Given the description of an element on the screen output the (x, y) to click on. 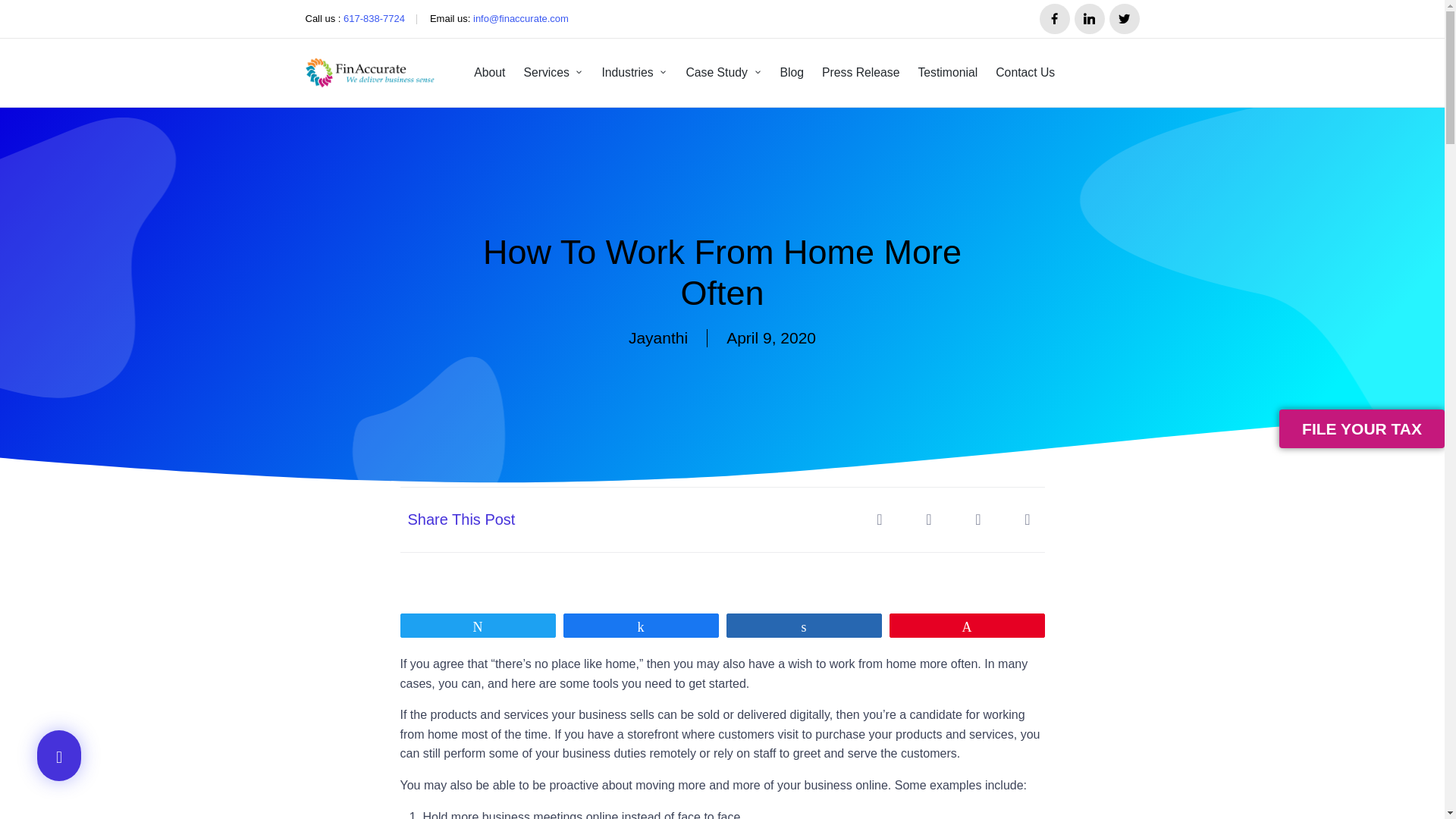
617-838-7724 (373, 19)
Contact Us (1024, 72)
April 9, 2020 (770, 338)
Testimonial (946, 72)
Services (552, 72)
Press Release (860, 72)
Jayanthi (657, 338)
Industries (633, 72)
Blog (792, 72)
Case Study (723, 72)
About (489, 72)
